Given the description of an element on the screen output the (x, y) to click on. 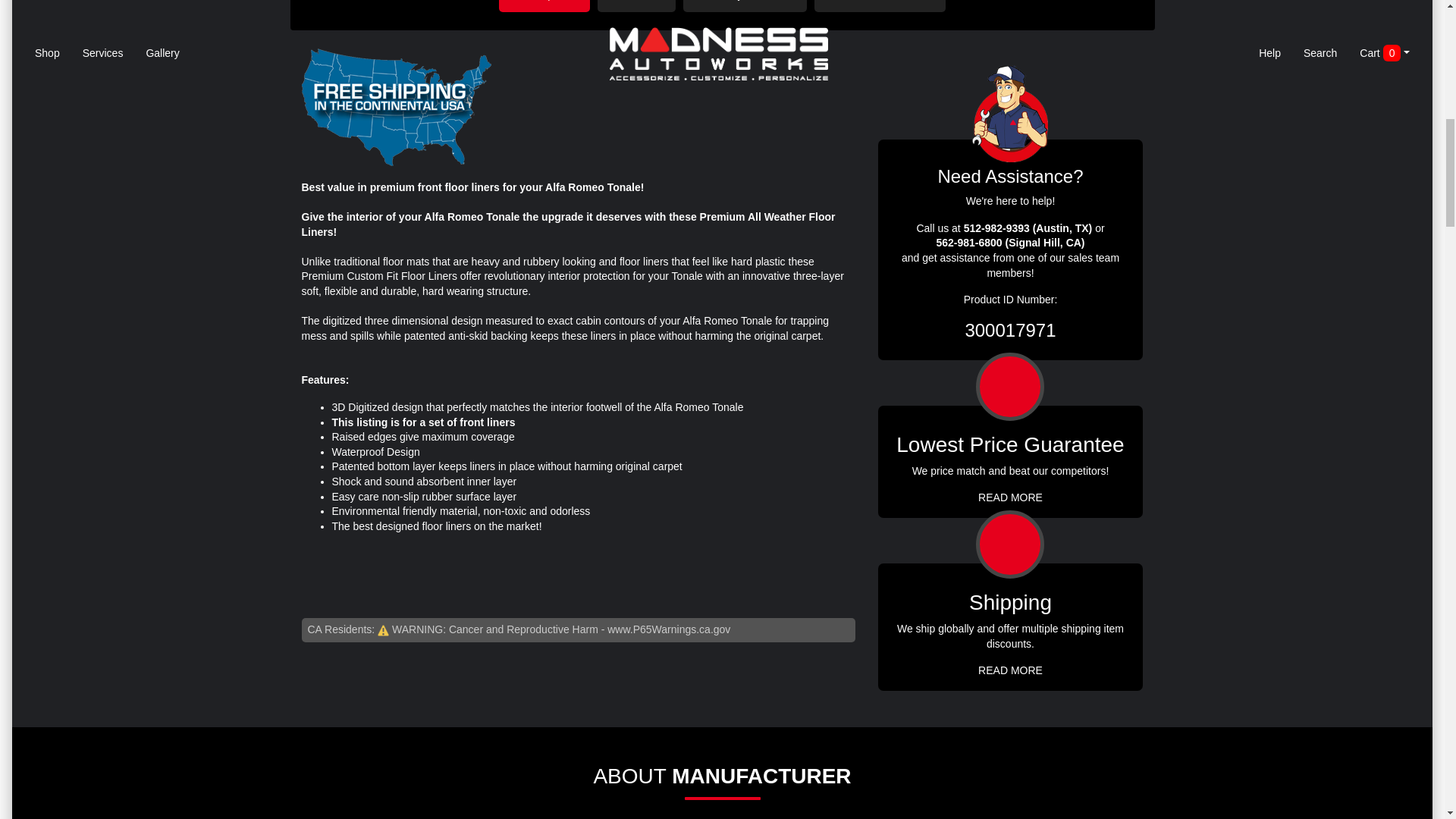
Description (544, 6)
